Given the description of an element on the screen output the (x, y) to click on. 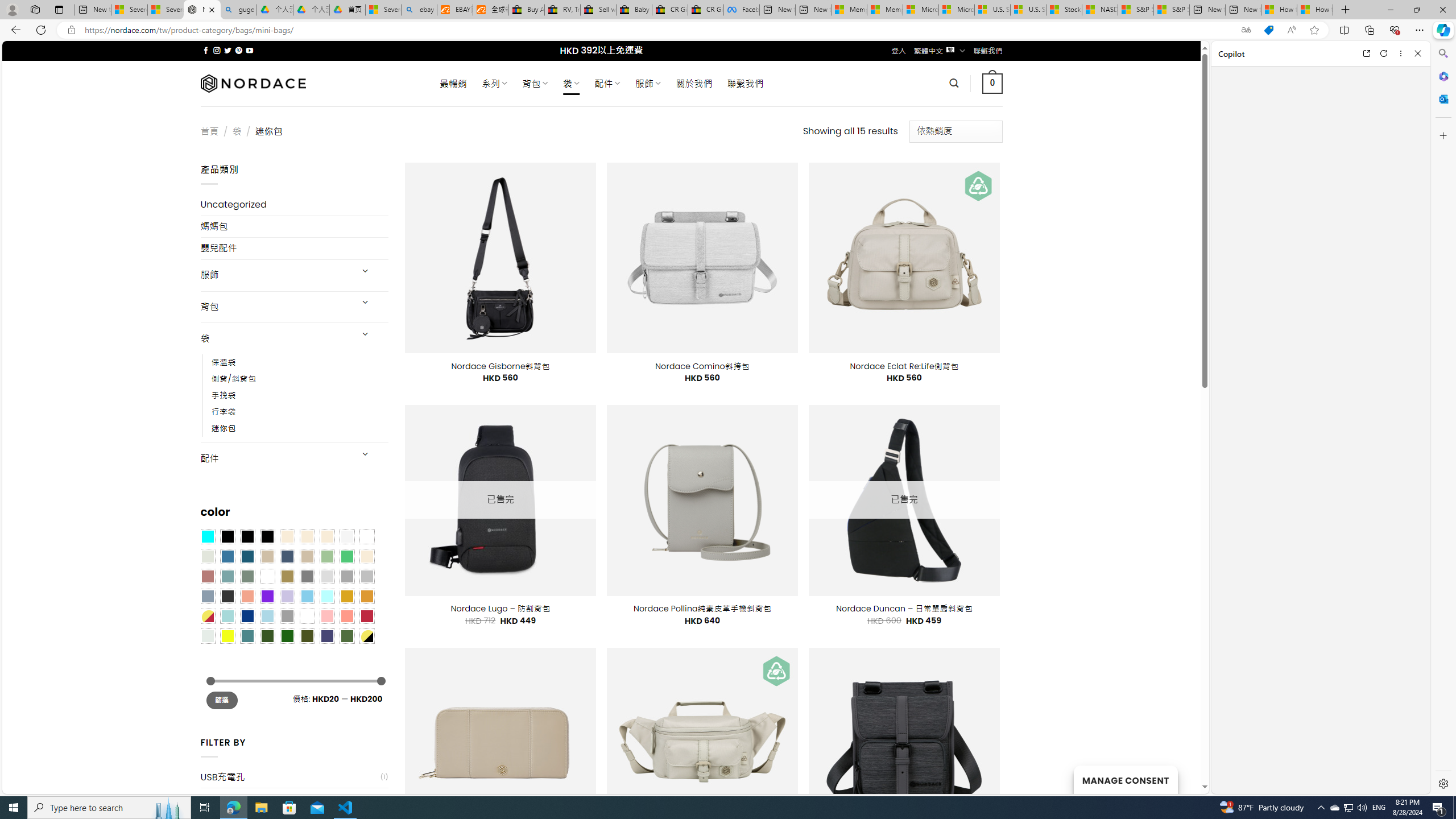
Open link in new tab (1366, 53)
